Given the description of an element on the screen output the (x, y) to click on. 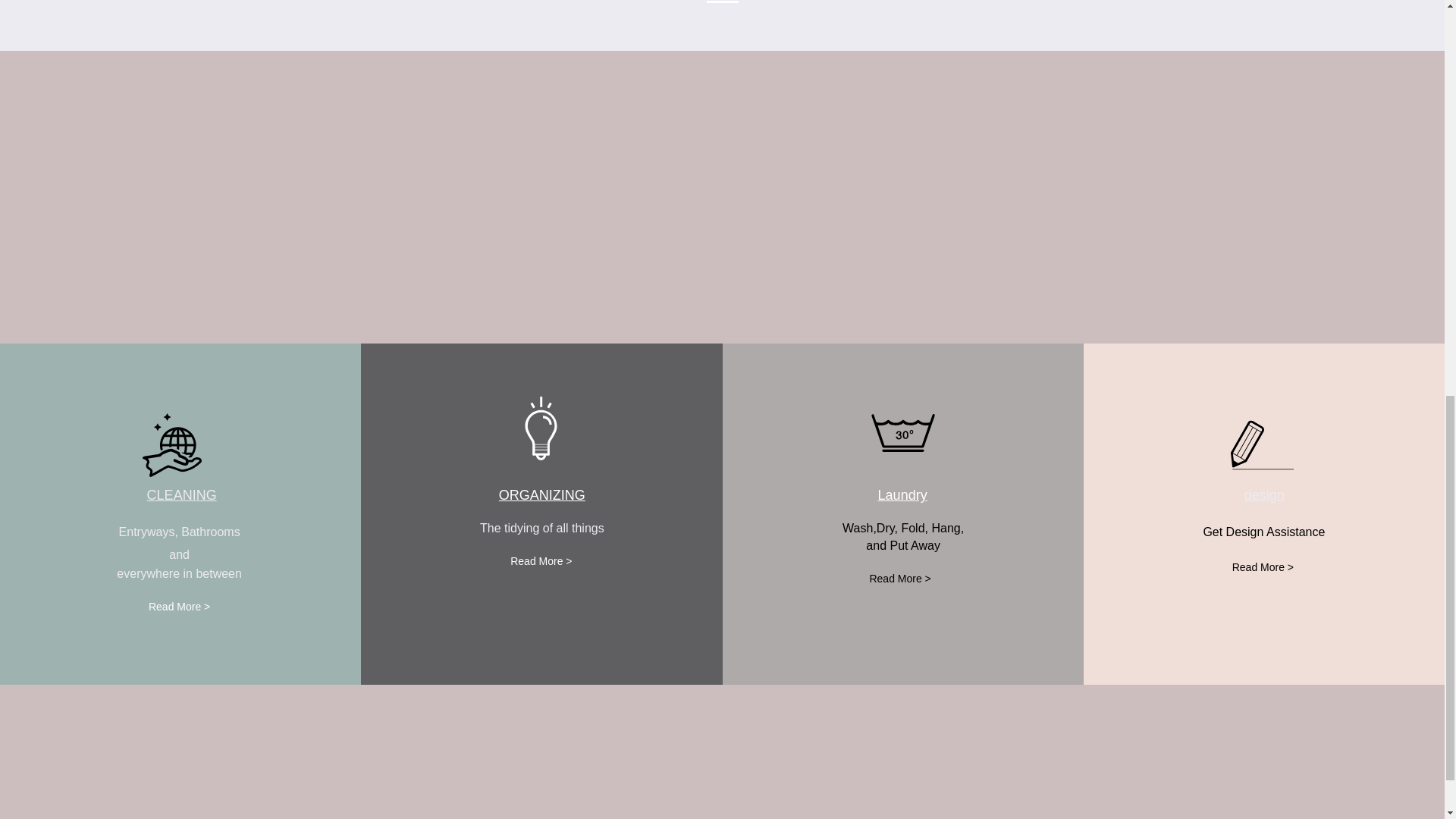
ORGANIZING (542, 494)
Laundry (902, 494)
design (1264, 494)
CLEANING (181, 494)
